Given the description of an element on the screen output the (x, y) to click on. 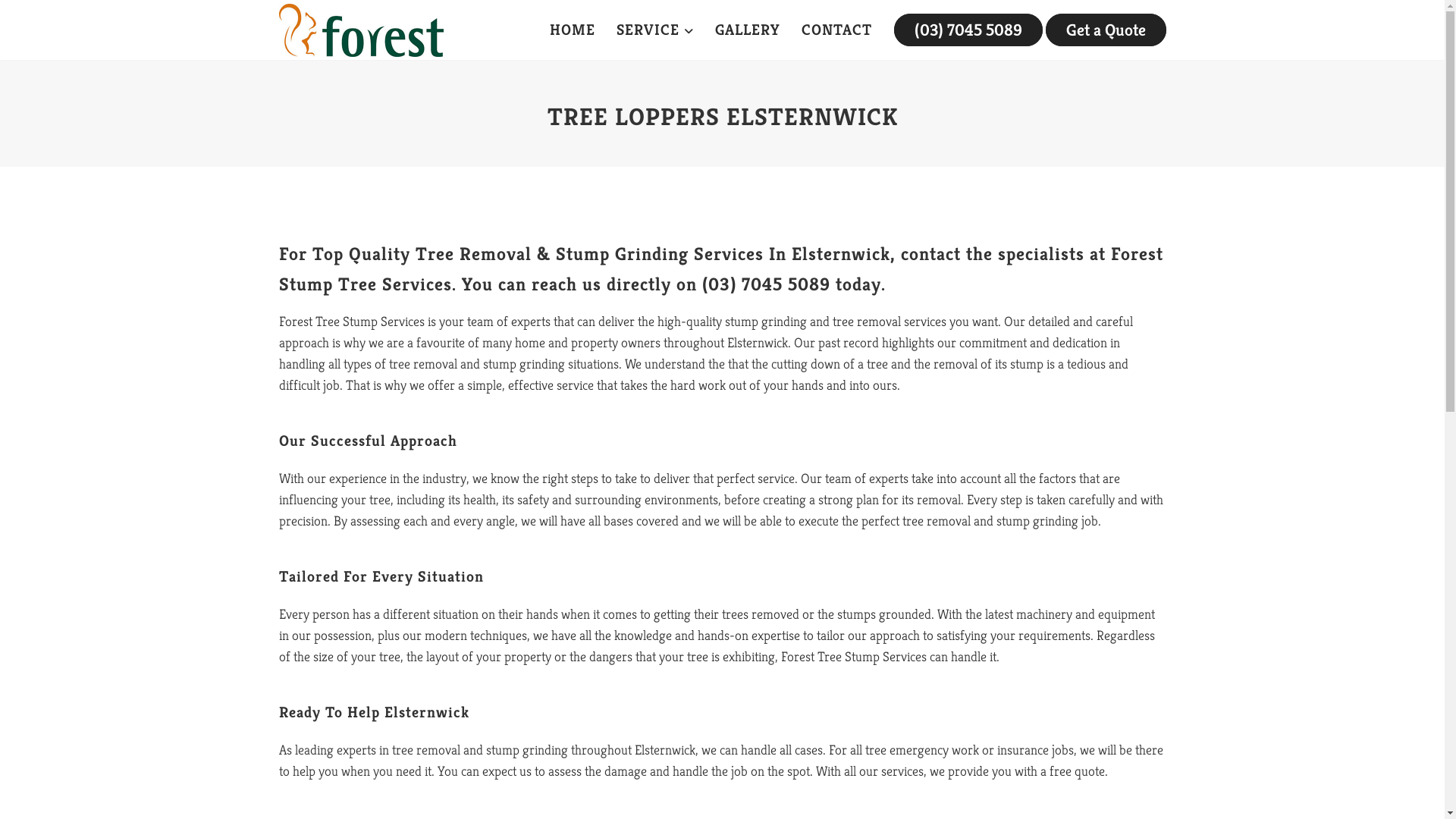
(03) 7045 5089 Element type: text (967, 29)
GALLERY Element type: text (746, 30)
SERVICE Element type: text (654, 30)
HOME Element type: text (571, 30)
Tree Removal, Stump Grinding, Tree Loppers | Forest Stump -  Element type: hover (360, 30)
CONTACT Element type: text (835, 30)
Get a Quote Element type: text (1104, 29)
